Given the description of an element on the screen output the (x, y) to click on. 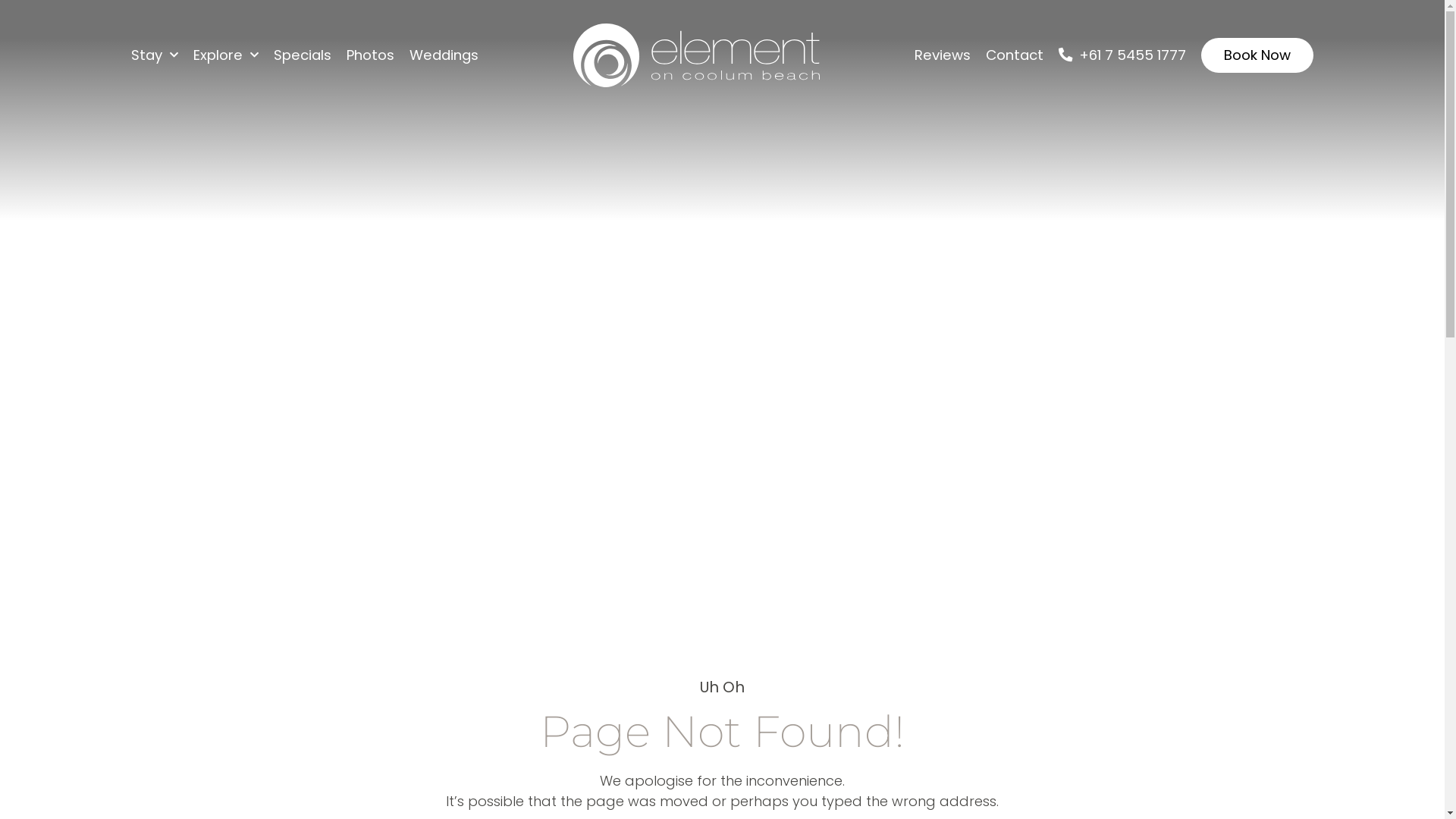
Photos Element type: text (370, 55)
+61 7 5455 1777 Element type: text (1122, 55)
Book Now Element type: text (1257, 54)
Stay Element type: text (154, 55)
Reviews Element type: text (942, 55)
Specials Element type: text (302, 55)
Weddings Element type: text (443, 55)
Contact Element type: text (1014, 55)
Explore Element type: text (225, 55)
